Given the description of an element on the screen output the (x, y) to click on. 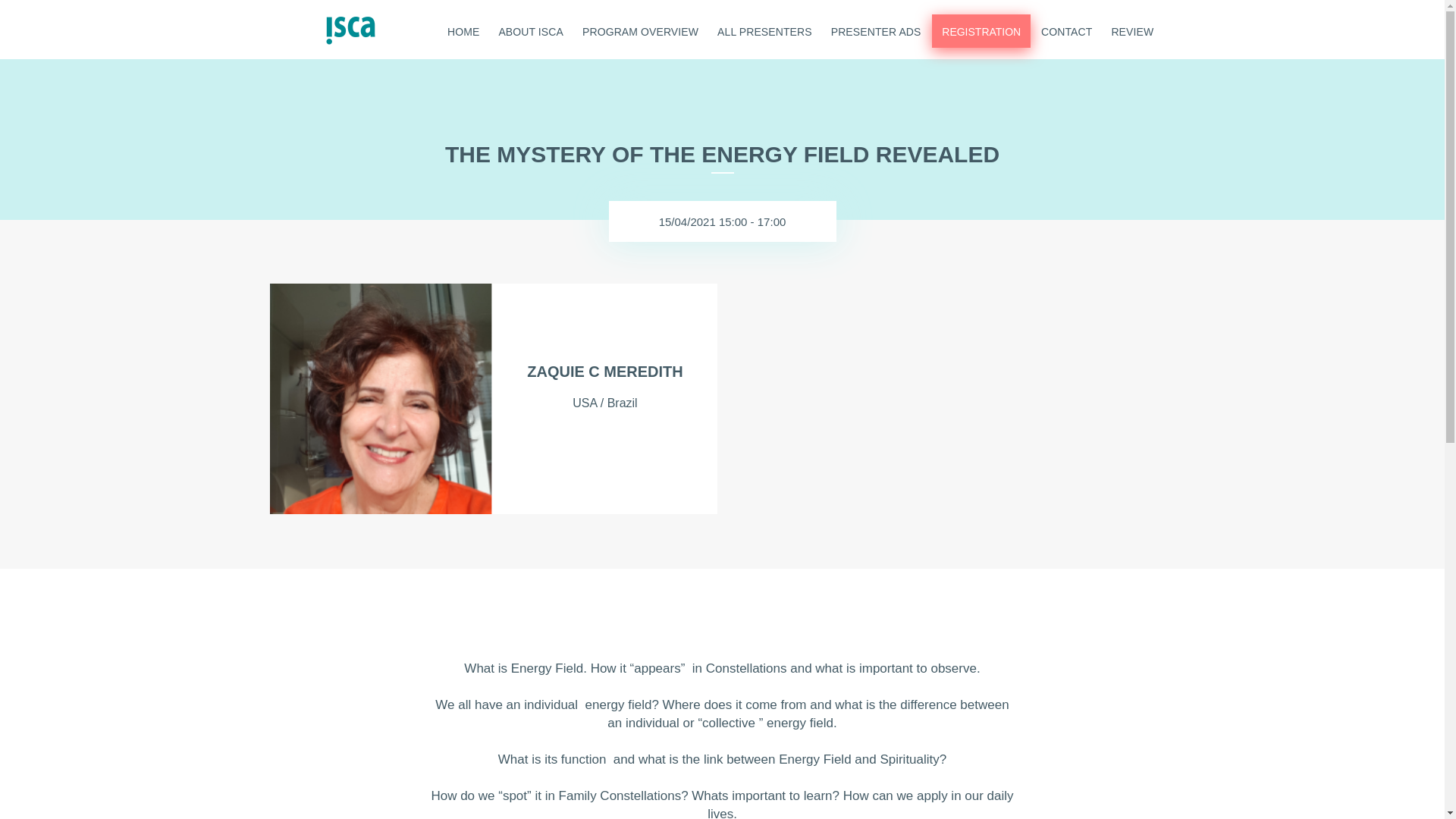
REVIEW (1131, 29)
PROGRAM OVERVIEW (640, 29)
ABOUT ISCA (530, 29)
ALL PRESENTERS (764, 29)
Program overview (640, 29)
HOME (463, 29)
REGISTRATION (980, 30)
PRESENTER ADS (875, 29)
CONTACT (1066, 29)
